Given the description of an element on the screen output the (x, y) to click on. 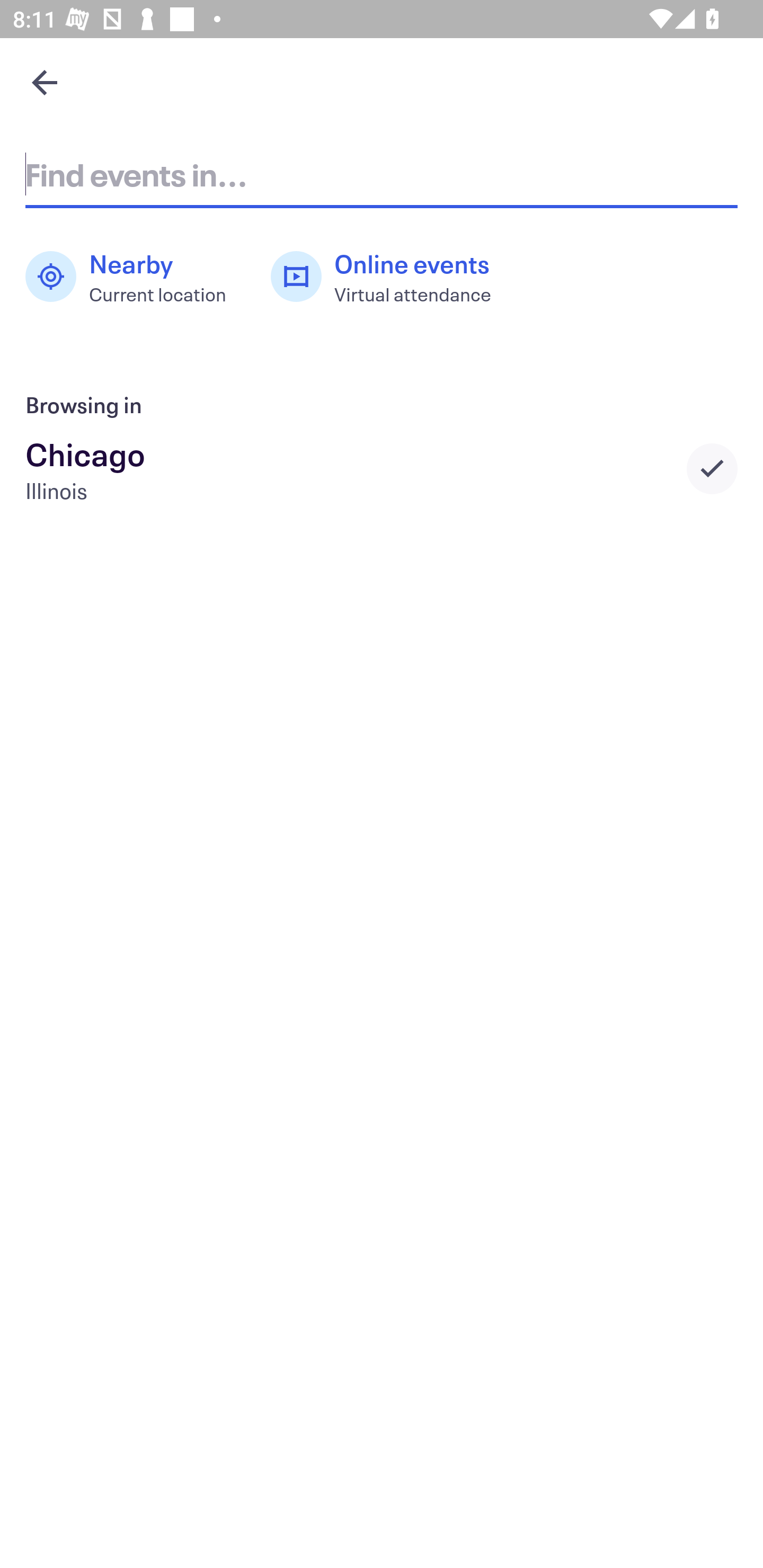
Navigate up (44, 82)
Find events in... (381, 173)
Nearby Current location (135, 276)
Online events Virtual attendance (390, 276)
Chicago Illinois Selected city (381, 468)
